Given the description of an element on the screen output the (x, y) to click on. 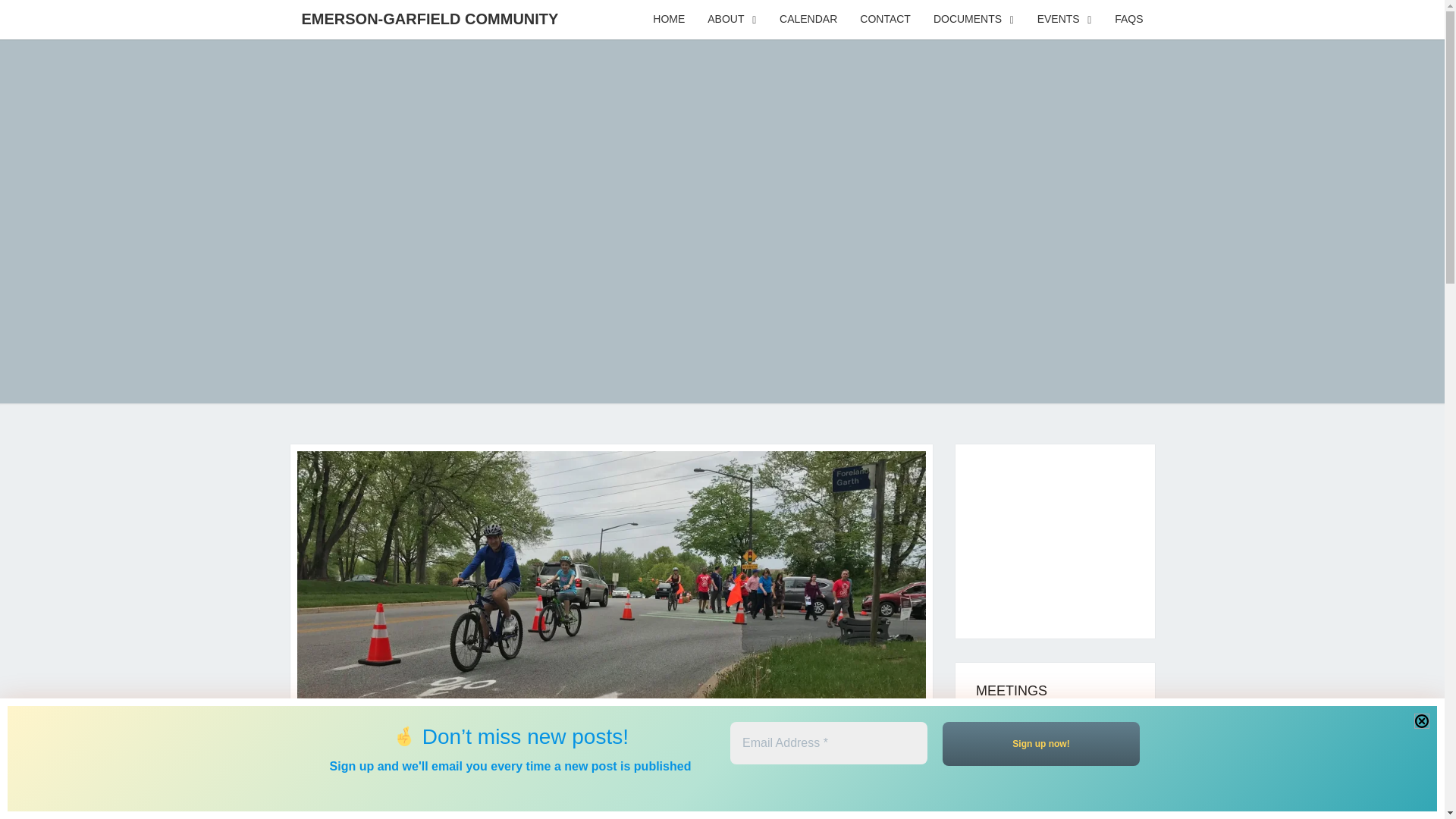
CALENDAR (808, 19)
EMERSON-GARFIELD COMMUNITY (429, 18)
Sign up now! (1040, 743)
DOCUMENTS (973, 19)
HOME (668, 19)
ABOUT (731, 19)
CONTACT (884, 19)
EVENTS (1064, 19)
Sign up now! (1040, 743)
Email Address (827, 742)
